Given the description of an element on the screen output the (x, y) to click on. 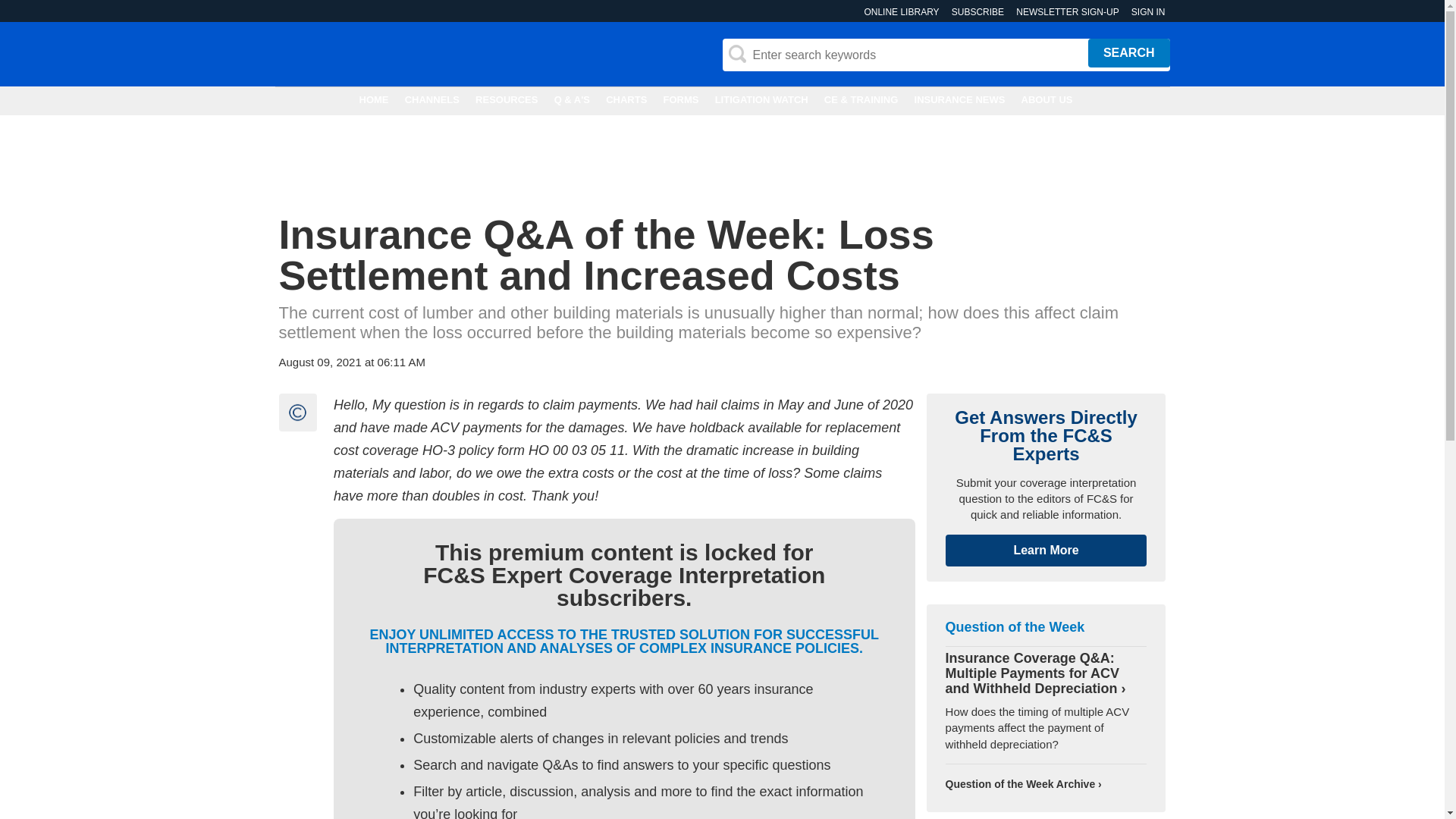
ONLINE LIBRARY (901, 12)
Learn More (1045, 550)
SUBSCRIBE (978, 12)
